Given the description of an element on the screen output the (x, y) to click on. 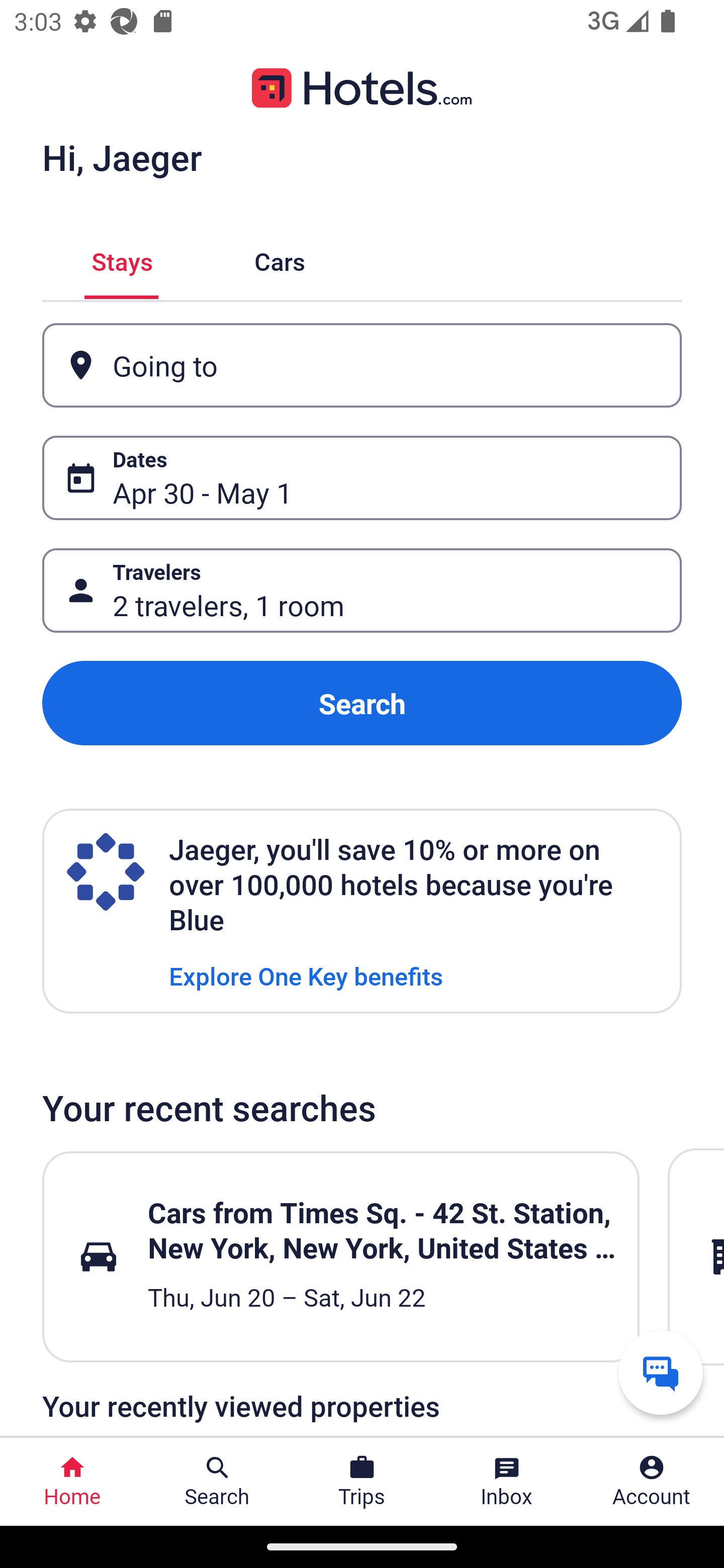
Hi, Jaeger (121, 156)
Cars (279, 259)
Going to Button (361, 365)
Dates Button Apr 30 - May 1 (361, 477)
Travelers Button 2 travelers, 1 room (361, 590)
Search (361, 702)
Get help from a virtual agent (660, 1371)
Search Search Button (216, 1481)
Trips Trips Button (361, 1481)
Inbox Inbox Button (506, 1481)
Account Profile. Button (651, 1481)
